Given the description of an element on the screen output the (x, y) to click on. 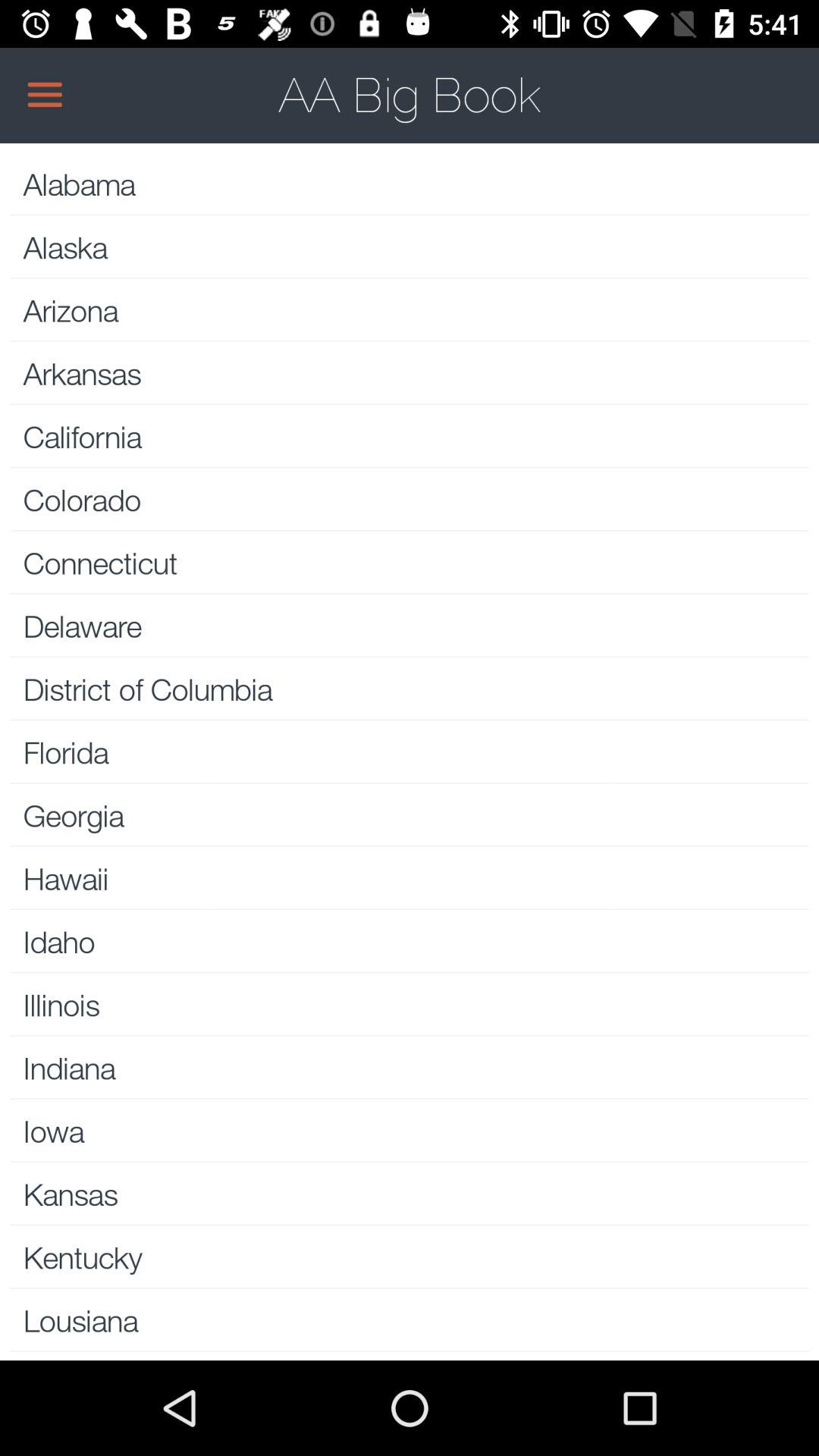
select main options (409, 95)
